Given the description of an element on the screen output the (x, y) to click on. 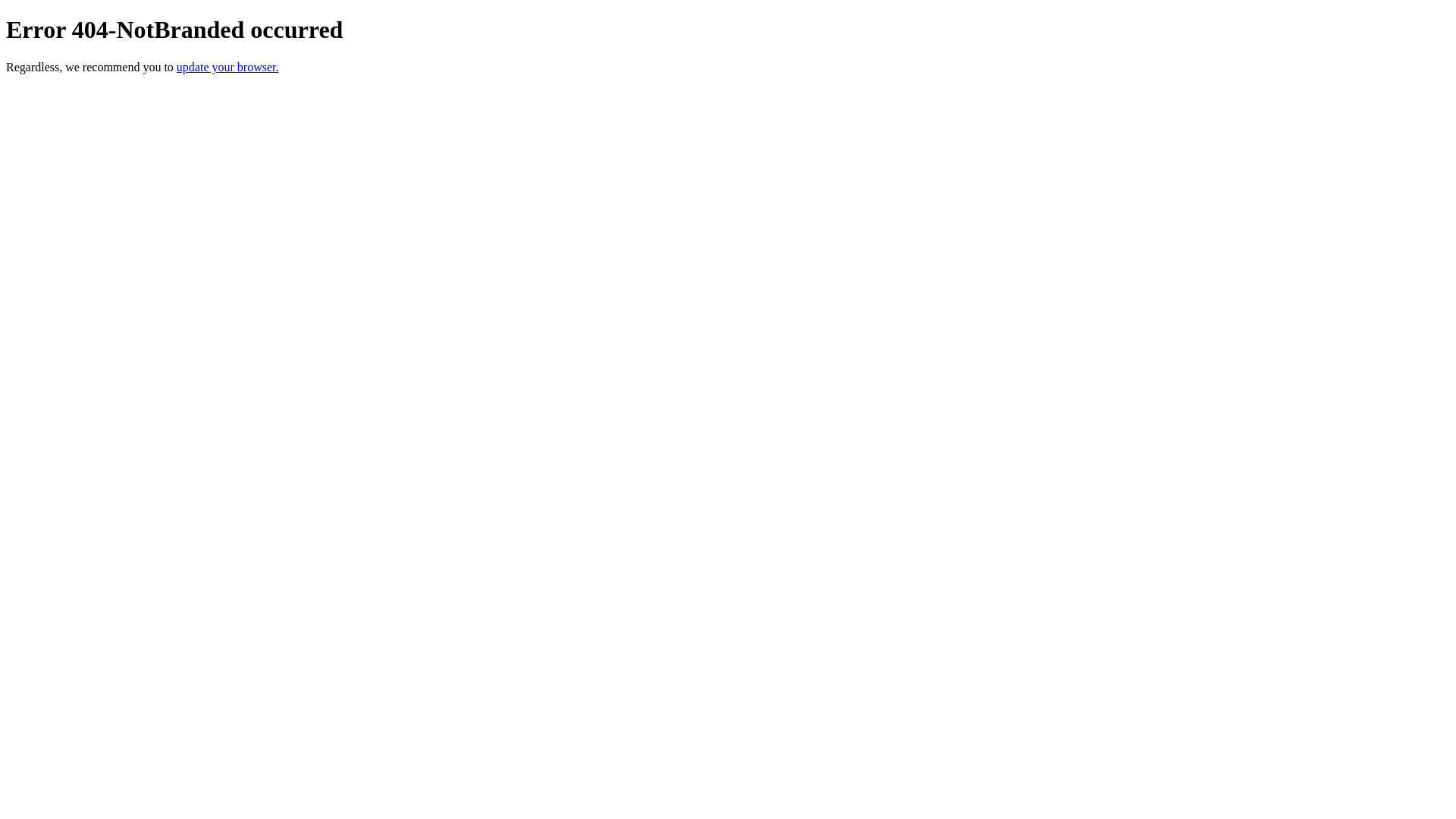
update your browser. Element type: text (227, 66)
